Given the description of an element on the screen output the (x, y) to click on. 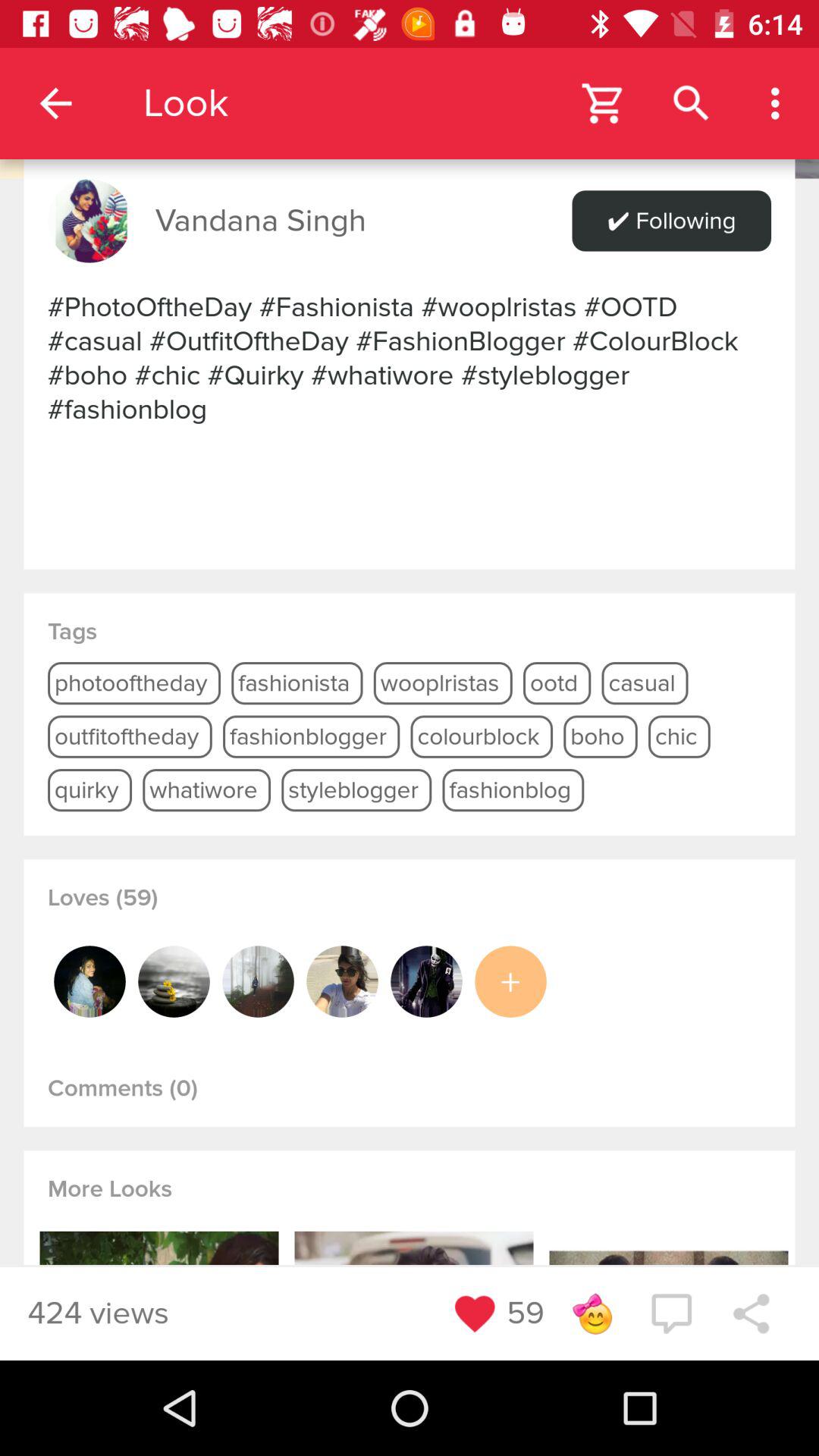
go back cart search (409, 89)
